Given the description of an element on the screen output the (x, y) to click on. 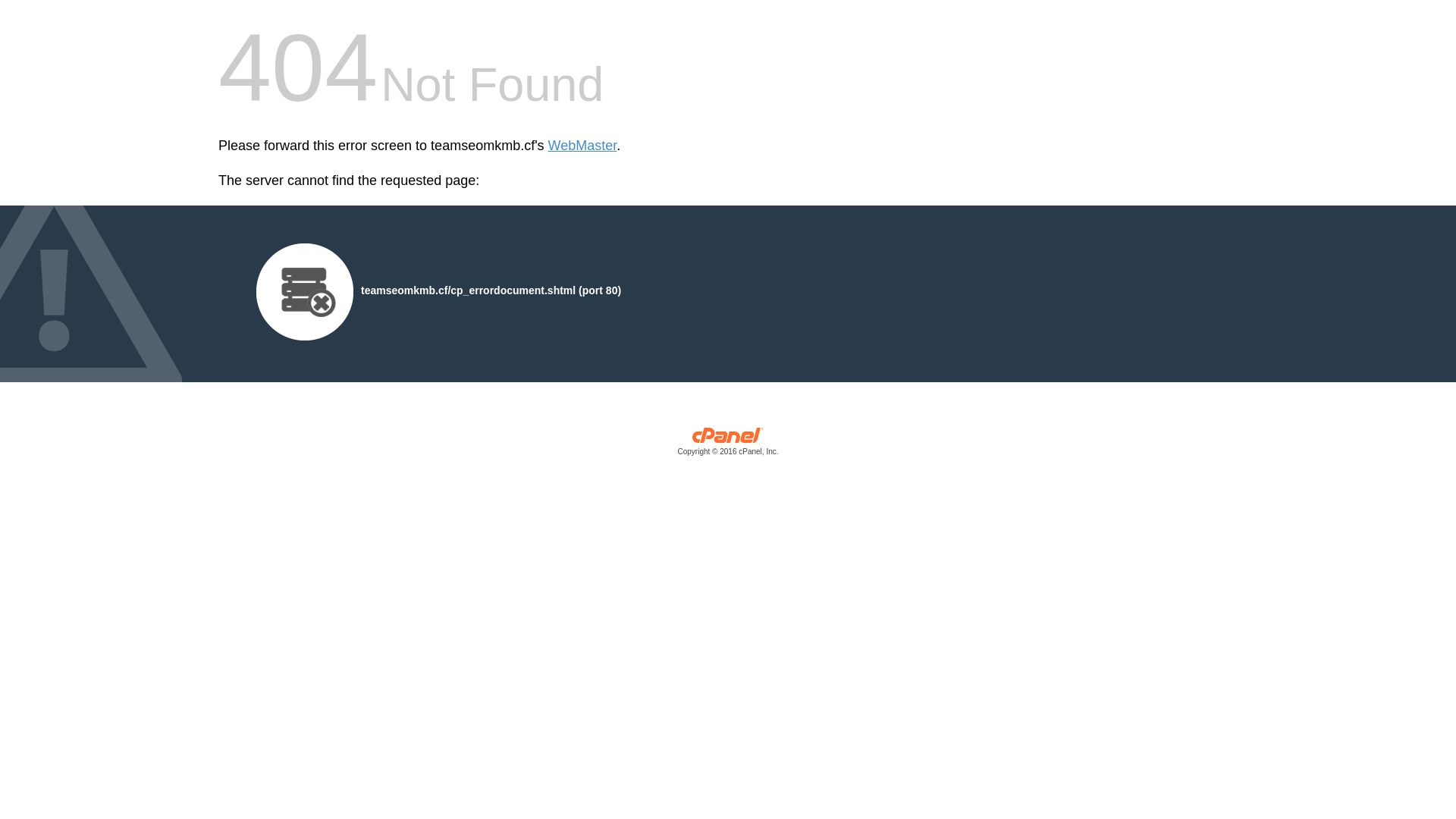
WebMaster Element type: text (582, 145)
